Given the description of an element on the screen output the (x, y) to click on. 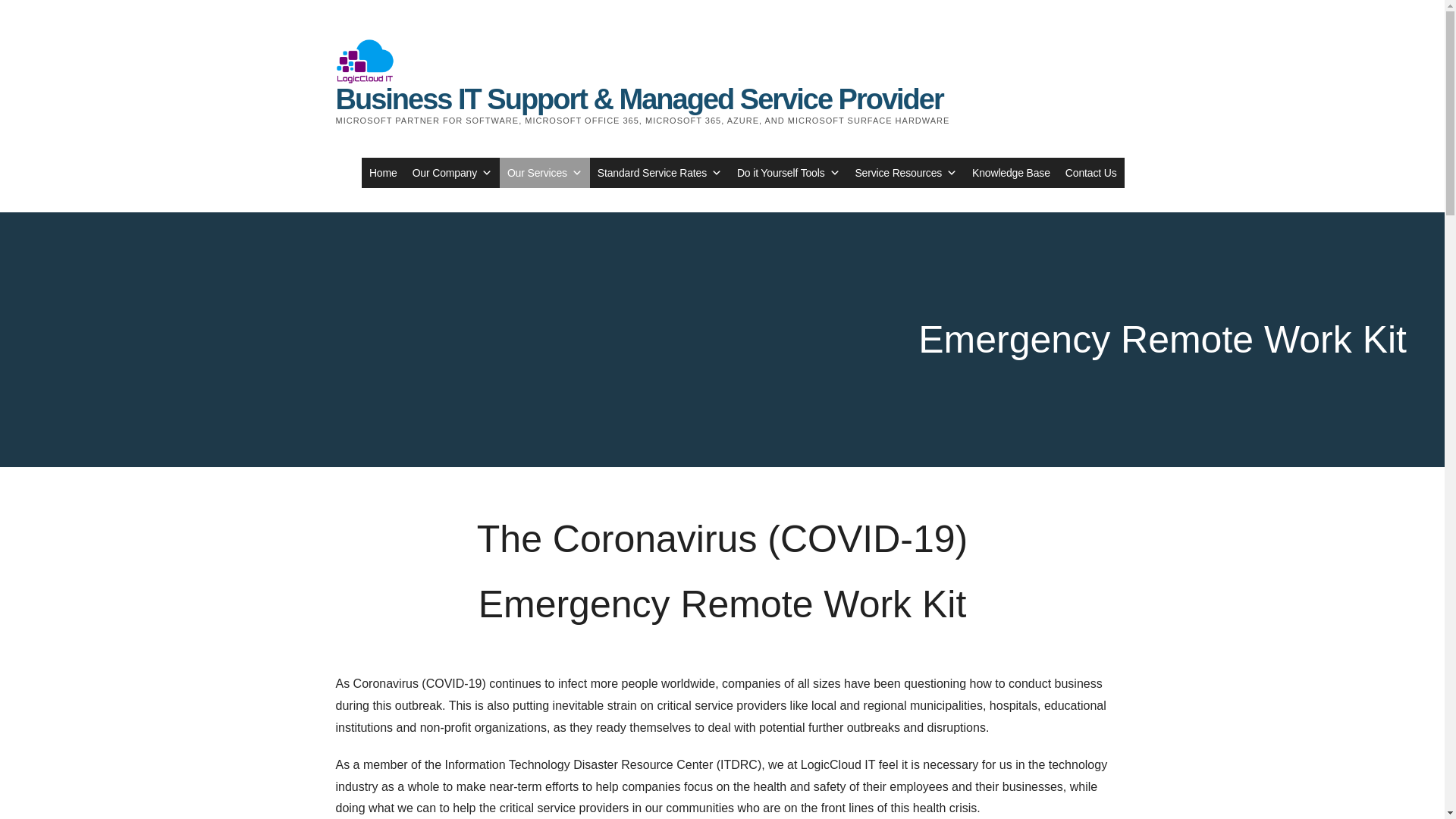
Home (382, 173)
Our Company (451, 173)
Standard Service Rates (659, 173)
Our Services (544, 173)
Service Resources (905, 173)
Do it Yourself Tools (788, 173)
